Given the description of an element on the screen output the (x, y) to click on. 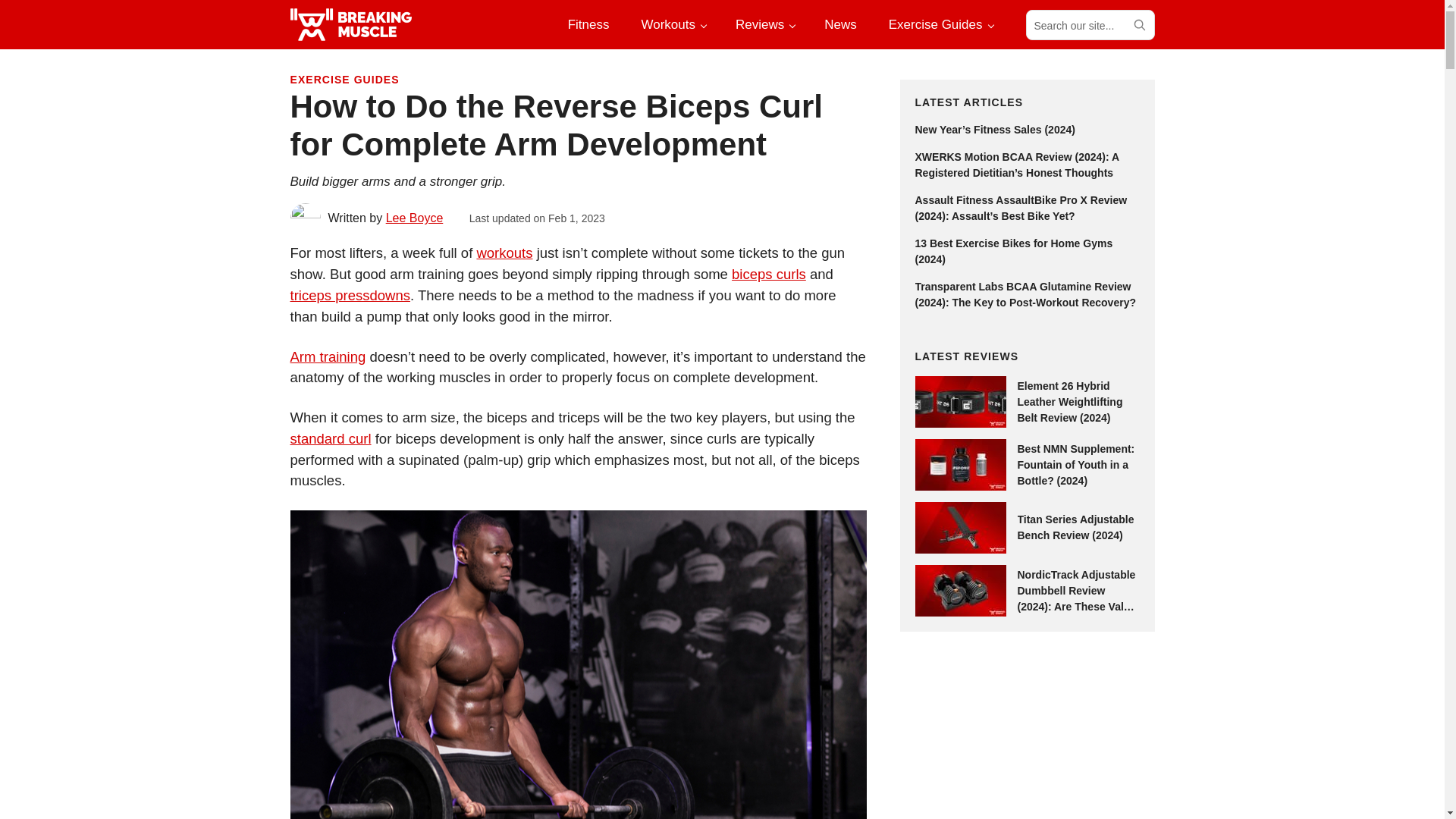
Fitness (588, 24)
Reviews (764, 24)
Submit search (1138, 24)
Submit search (1138, 24)
Workouts (672, 24)
